Given the description of an element on the screen output the (x, y) to click on. 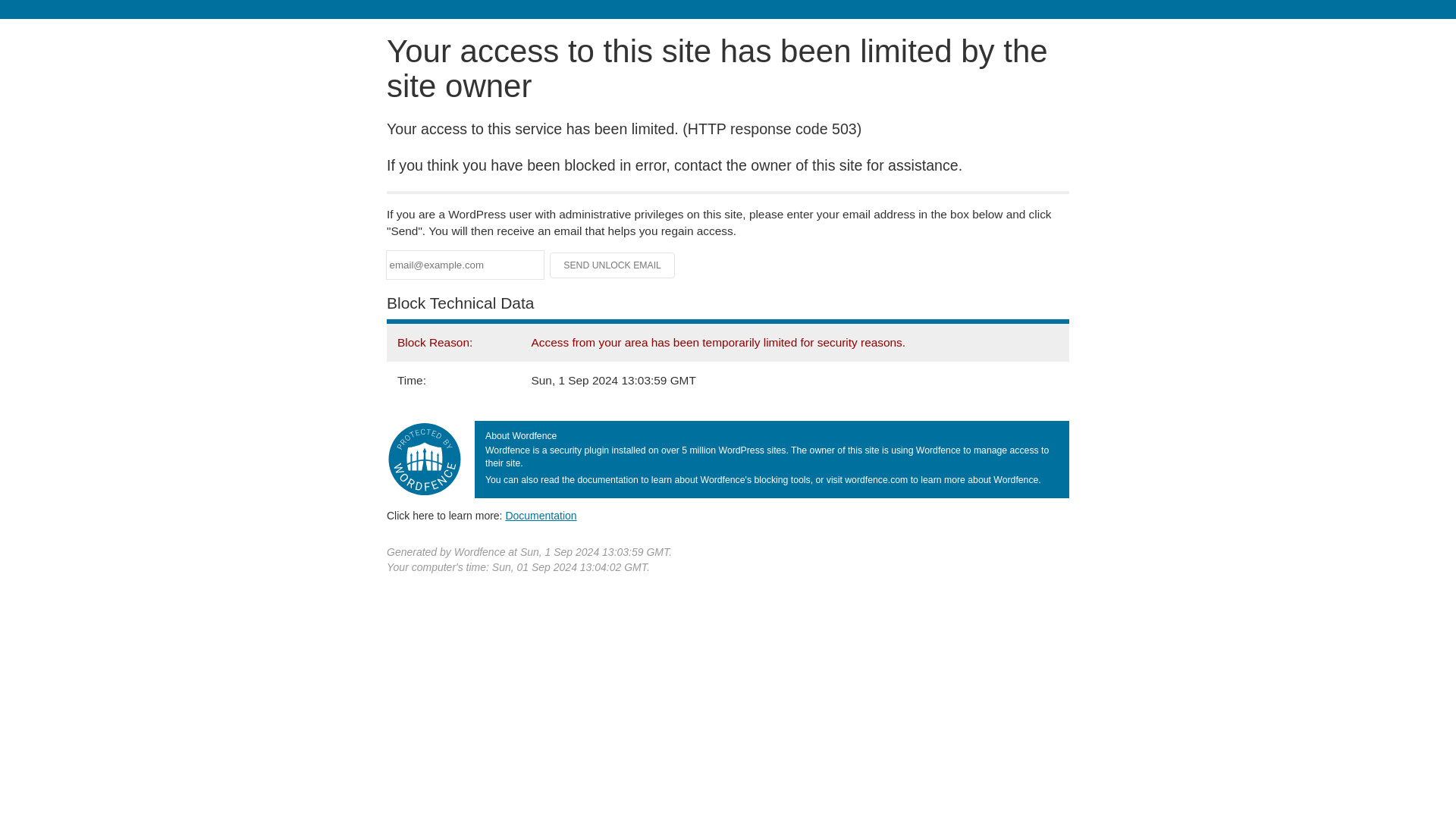
Send Unlock Email (612, 265)
Send Unlock Email (612, 265)
Documentation (540, 515)
